Given the description of an element on the screen output the (x, y) to click on. 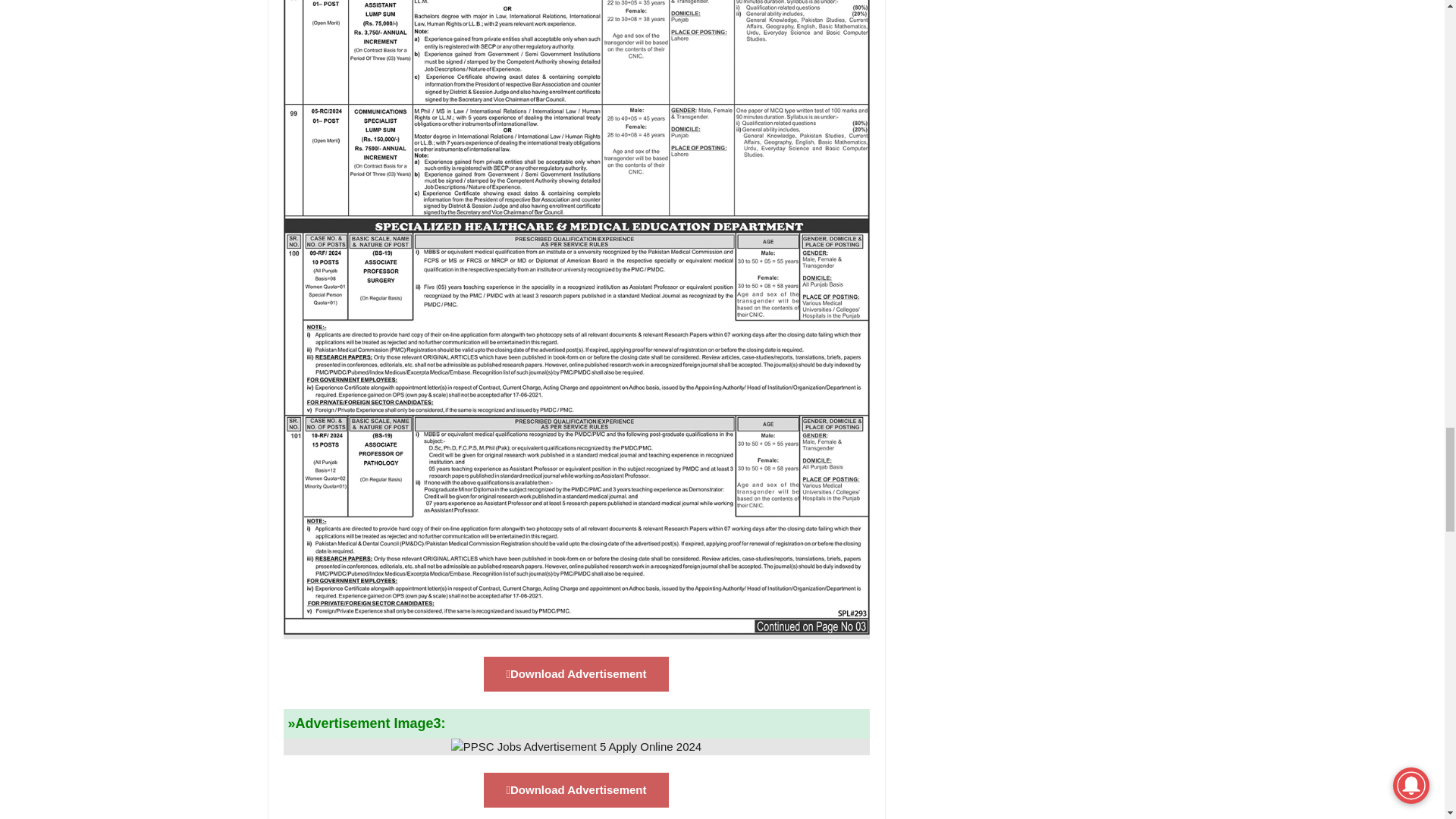
Download Advertisement (576, 674)
Download Advertisement (576, 790)
Download Advertisement (576, 674)
Download Advertisement (576, 790)
